Given the description of an element on the screen output the (x, y) to click on. 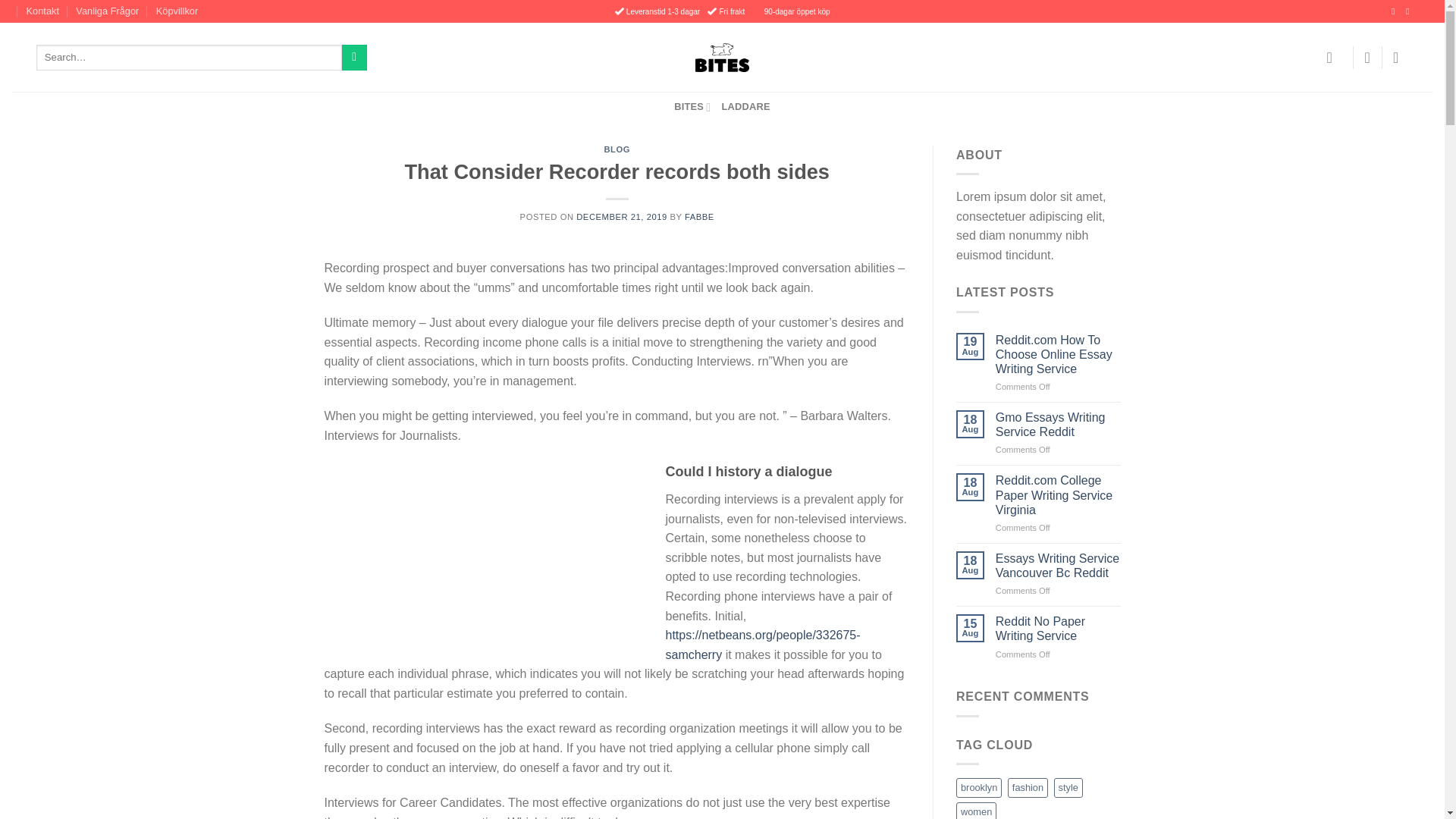
Kontakt (42, 11)
BITES (692, 106)
Reddit.com College Paper Writing Service Virginia (1058, 494)
Reddit No Paper Writing Service (1058, 628)
women (975, 810)
Reddit.com How To Choose Online Essay Writing Service (1058, 354)
brooklyn (978, 787)
Gmo Essays Writing Service Reddit (1058, 424)
FABBE (699, 216)
DECEMBER 21, 2019 (621, 216)
